Given the description of an element on the screen output the (x, y) to click on. 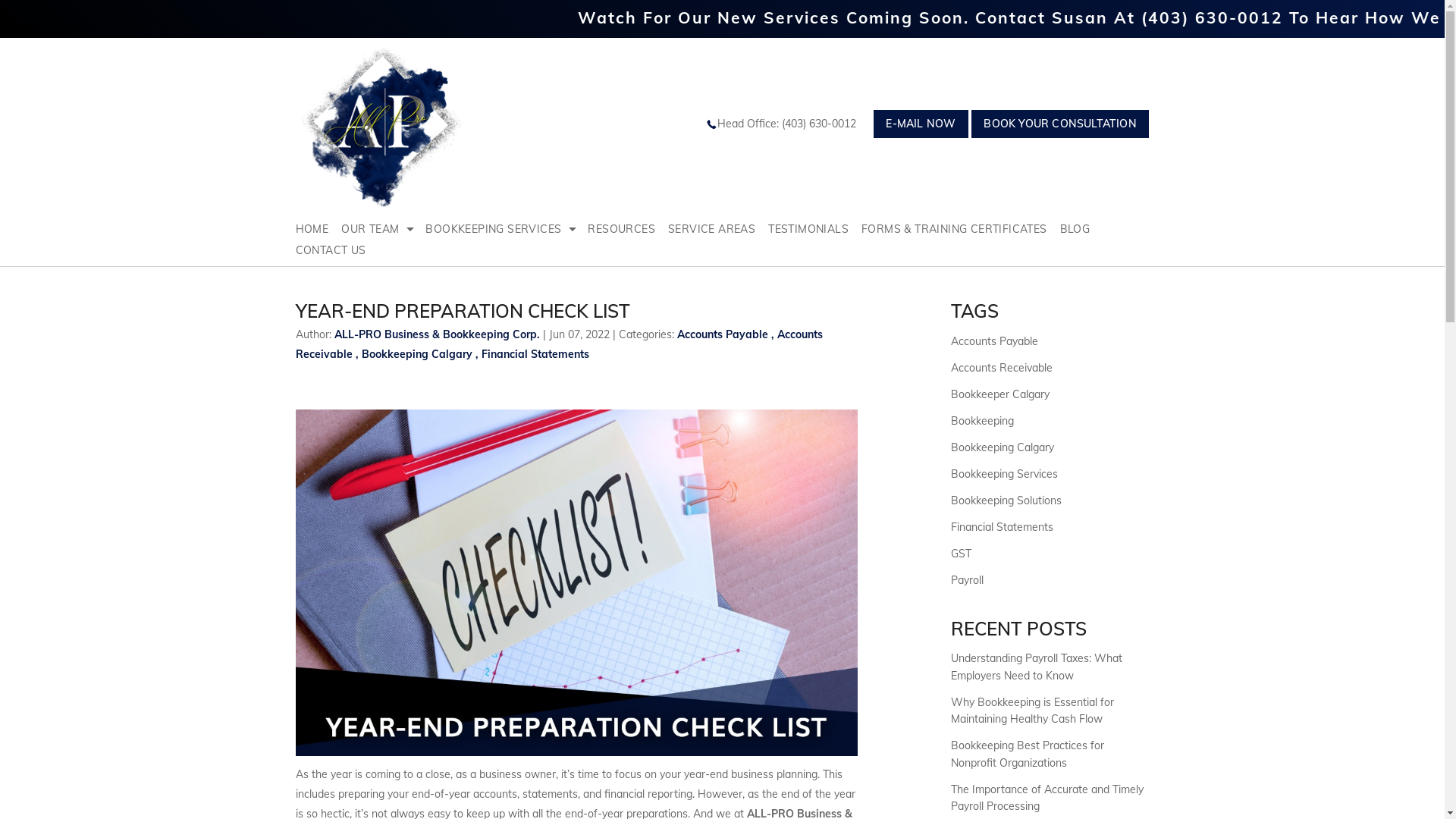
Bookkeeper Calgary Element type: text (999, 394)
Bookkeeping Solutions Element type: text (1005, 500)
Payroll Element type: text (966, 579)
Accounts Receivable Element type: text (1001, 367)
Bookkeeping Calgary Element type: text (1002, 447)
BOOK YOUR CONSULTATION Element type: text (1059, 123)
SERVICE AREAS Element type: text (718, 228)
Accounts Payable Element type: text (994, 341)
Accounts Payable Element type: text (722, 334)
TESTIMONIALS Element type: text (814, 228)
BOOKKEEPING SERVICES Element type: text (506, 228)
FORMS & TRAINING CERTIFICATES Element type: text (960, 228)
Bookkeeping Services Element type: text (1003, 473)
BLOG Element type: text (1081, 228)
Accounts Receivable Element type: text (558, 343)
GST Element type: text (960, 553)
HOME Element type: text (318, 228)
RESOURCES Element type: text (627, 228)
E-MAIL NOW Element type: text (920, 123)
The Importance of Accurate and Timely Payroll Processing Element type: text (1046, 797)
Financial Statements Element type: text (535, 353)
Bookkeeping Calgary Element type: text (416, 353)
OUR TEAM Element type: text (383, 228)
Financial Statements Element type: text (1001, 526)
Bookkeeping Element type: text (981, 420)
Understanding Payroll Taxes: What Employers Need to Know Element type: text (1036, 666)
CONTACT US Element type: text (337, 249)
Bookkeeping Best Practices for Nonprofit Organizations Element type: text (1027, 753)
Head Office: (403) 630-0012 Element type: text (788, 123)
